Given the description of an element on the screen output the (x, y) to click on. 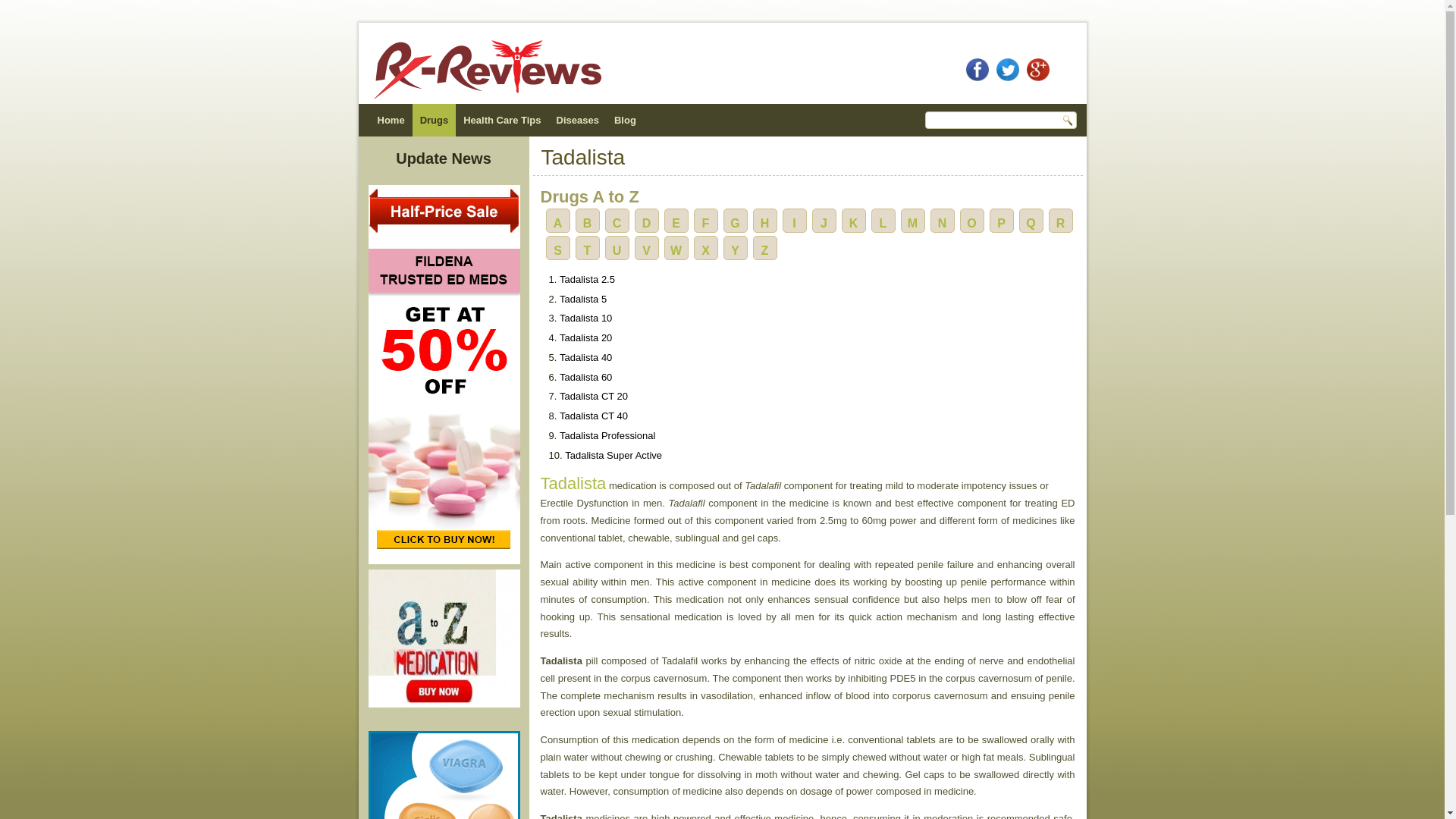
RX Reviews (390, 120)
Drugs (434, 120)
Drugs (434, 120)
Home (390, 120)
